Given the description of an element on the screen output the (x, y) to click on. 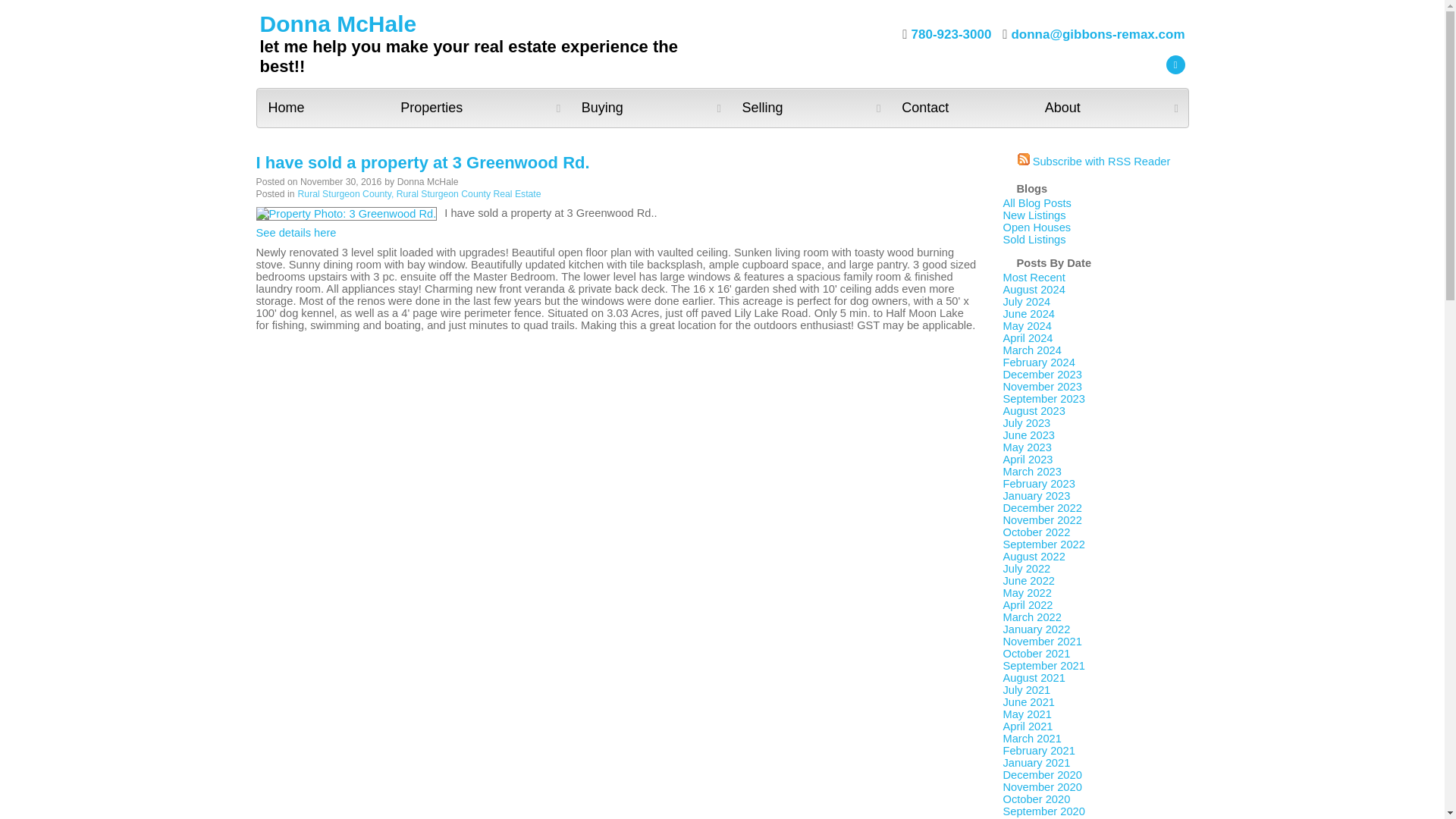
November 2023 (1042, 386)
Subscribe with RSS Reader (1093, 161)
May 2024 (1027, 326)
April 2024 (1027, 337)
Home (322, 107)
Properties (479, 107)
Selling (809, 107)
About (1110, 107)
March 2024 (1032, 349)
Contact (961, 107)
